Given the description of an element on the screen output the (x, y) to click on. 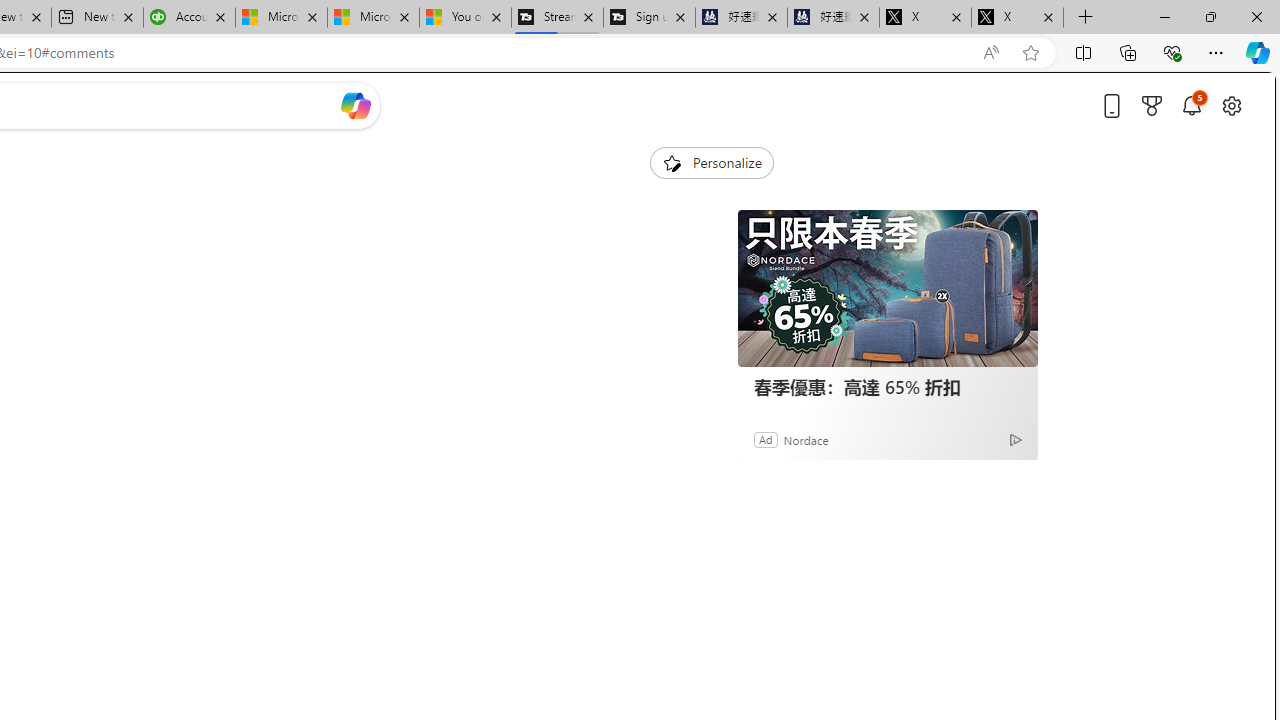
Open Copilot (356, 105)
To get missing image descriptions, open the context menu. (671, 162)
Streaming Coverage | T3 (557, 17)
Accounting Software for Accountants, CPAs and Bookkeepers (189, 17)
Ad (766, 439)
Microsoft rewards (1151, 105)
